Given the description of an element on the screen output the (x, y) to click on. 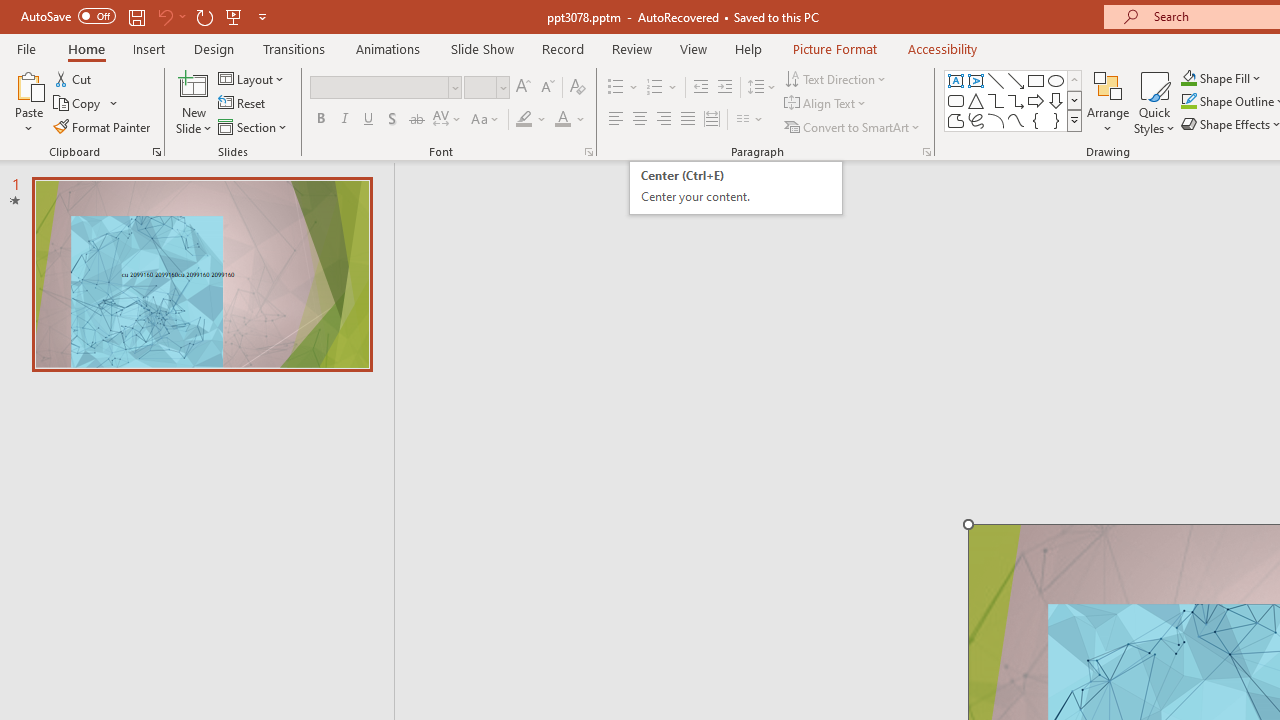
Shape Outline Green, Accent 1 (1188, 101)
